Given the description of an element on the screen output the (x, y) to click on. 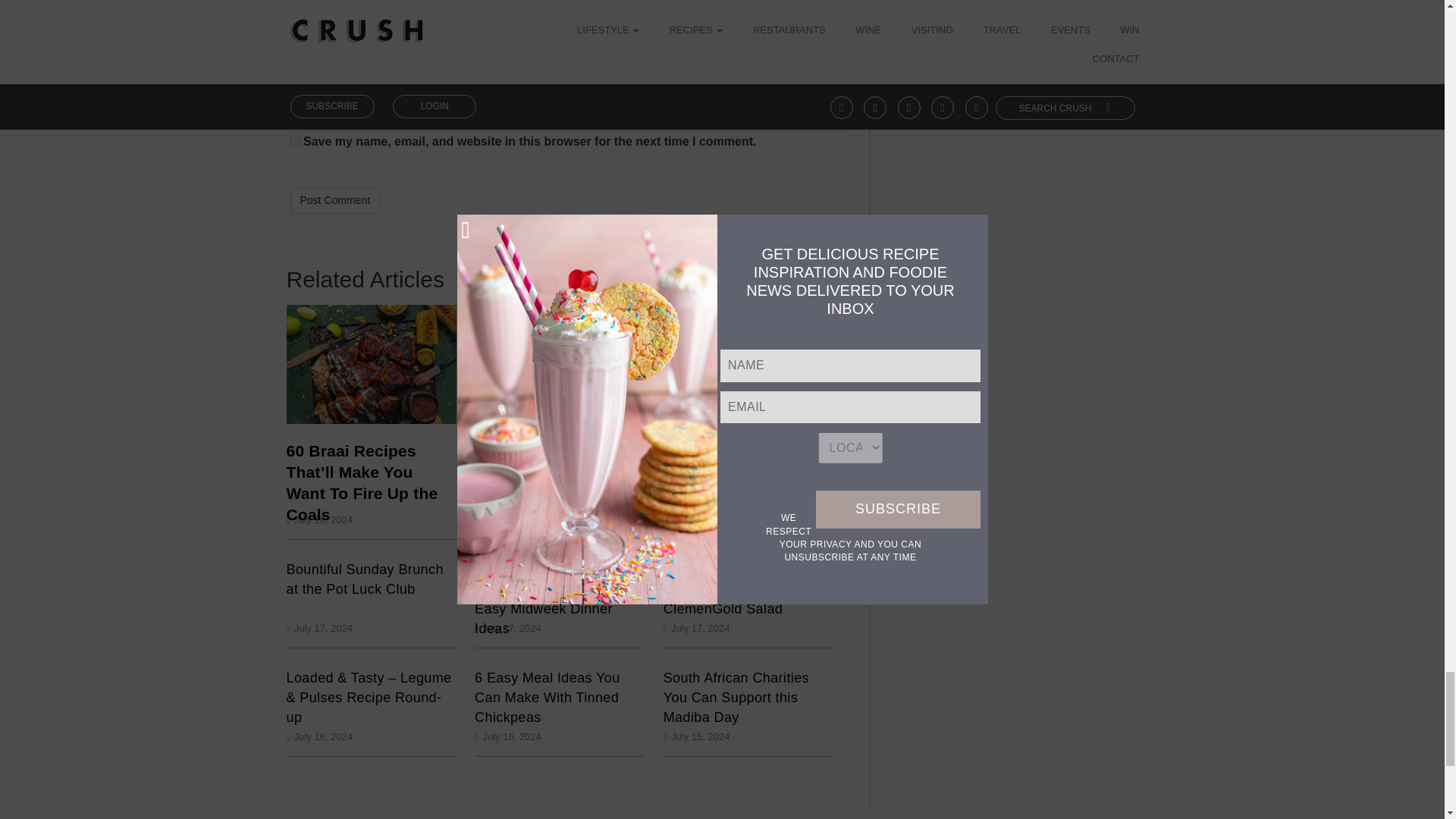
yes (294, 140)
Post Comment (334, 200)
